Given the description of an element on the screen output the (x, y) to click on. 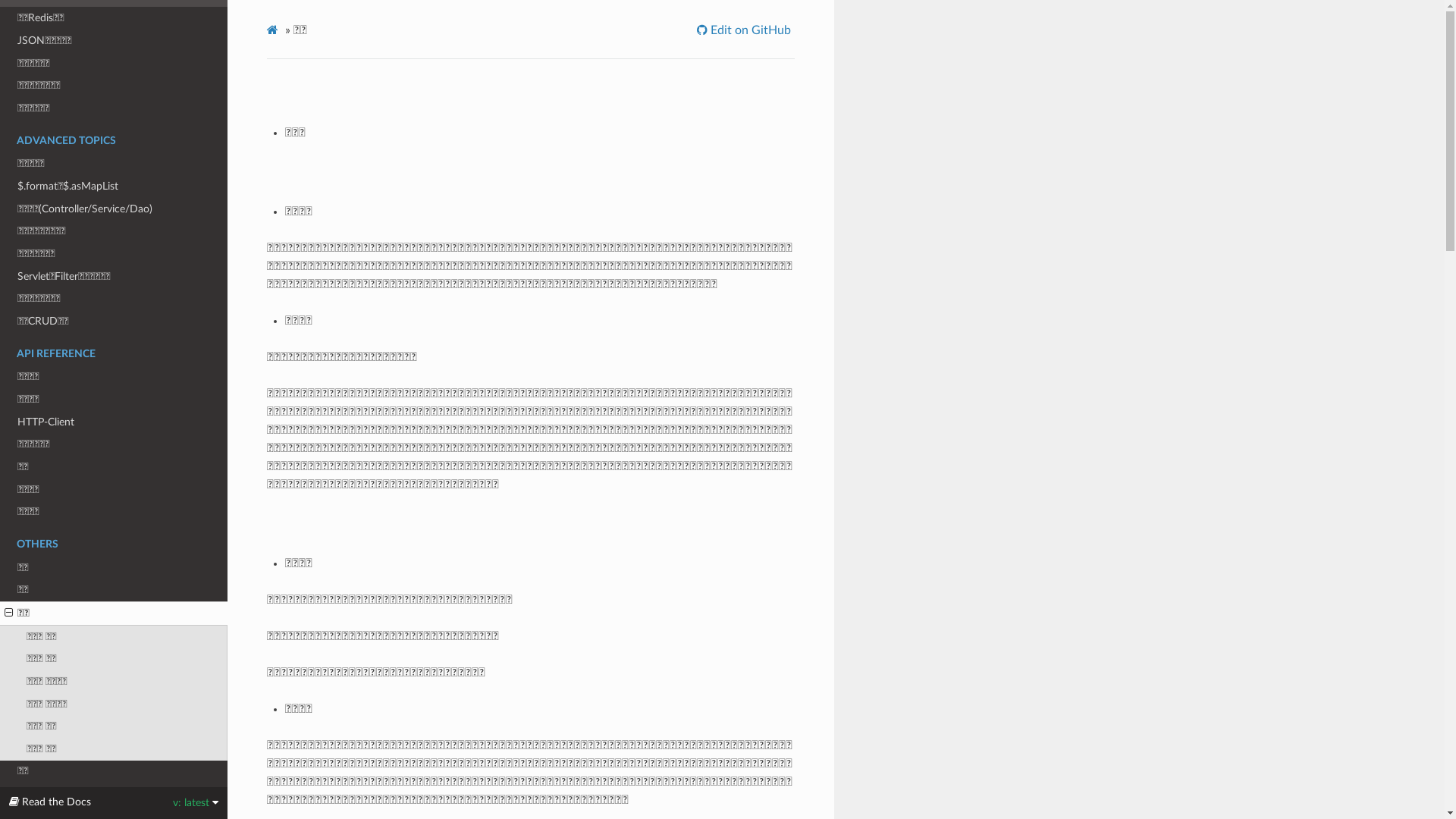
HTTP-Client Element type: text (113, 422)
Open/close menu Element type: hover (8, 613)
Edit on GitHub Element type: text (745, 29)
